Given the description of an element on the screen output the (x, y) to click on. 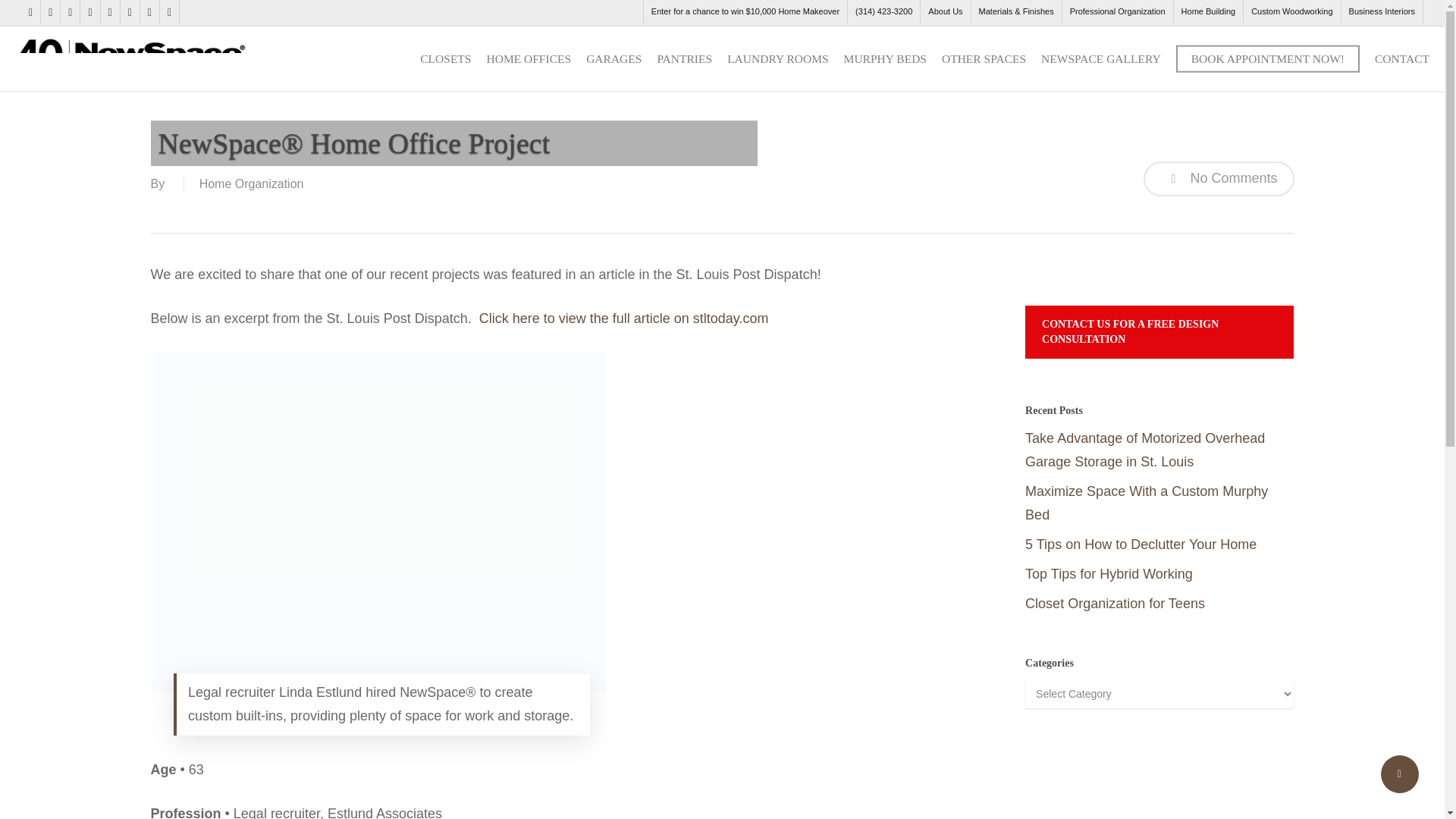
Business Interiors (1381, 11)
Home Building (1208, 11)
CLOSETS (445, 58)
Custom Woodworking (1291, 11)
PANTRIES (683, 58)
HOME OFFICES (528, 58)
GARAGES (614, 58)
Professional Organization (1117, 11)
About Us (944, 11)
